Given the description of an element on the screen output the (x, y) to click on. 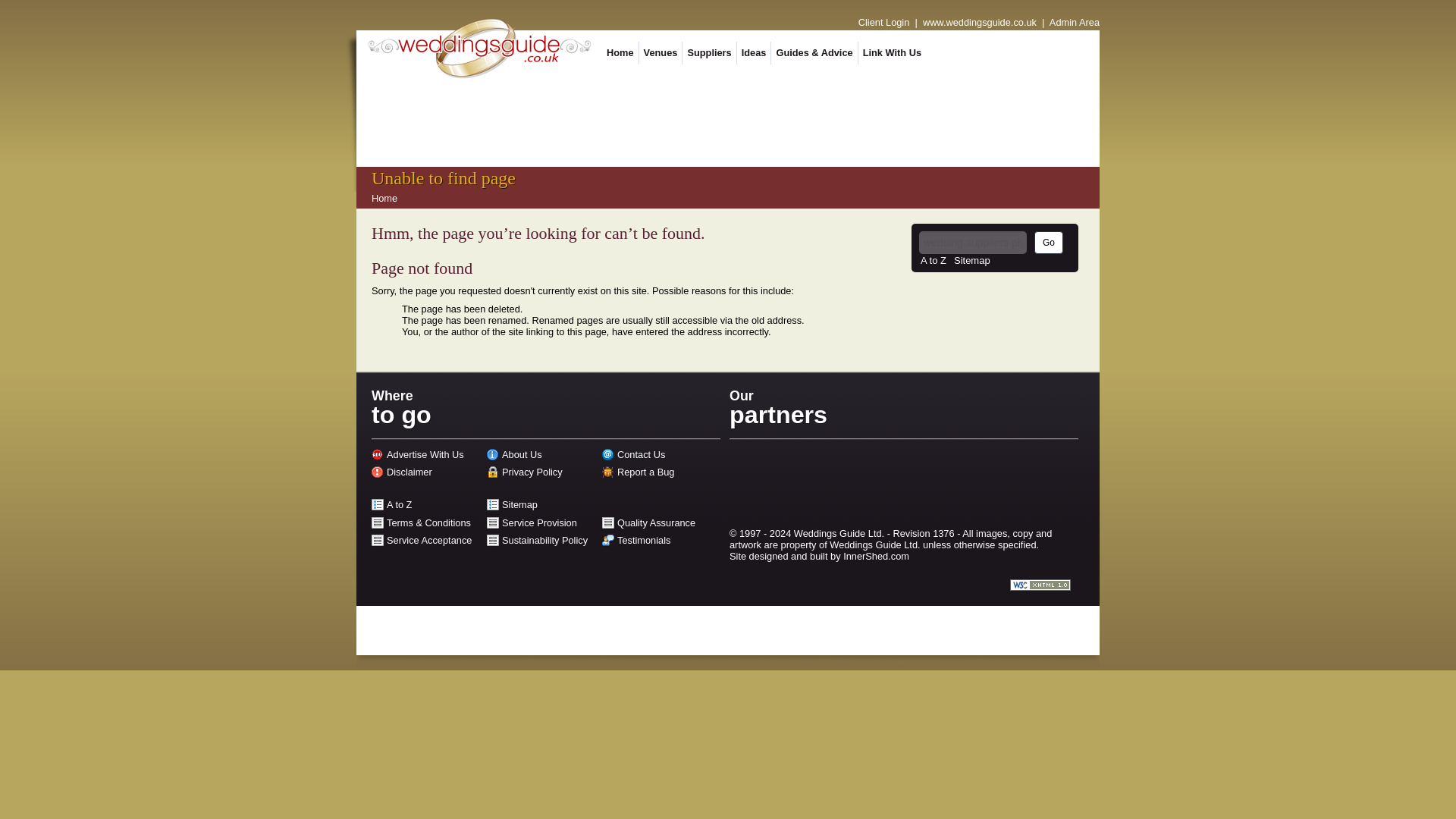
Home (620, 52)
Sustainability Policy (545, 540)
About Us (521, 454)
Home (384, 197)
Valid XHTML 1.0 Transitional (1040, 584)
Testimonials (643, 540)
Service Provision (539, 522)
About Us (521, 454)
A to Z (399, 504)
Advertise With Us (425, 454)
